Given the description of an element on the screen output the (x, y) to click on. 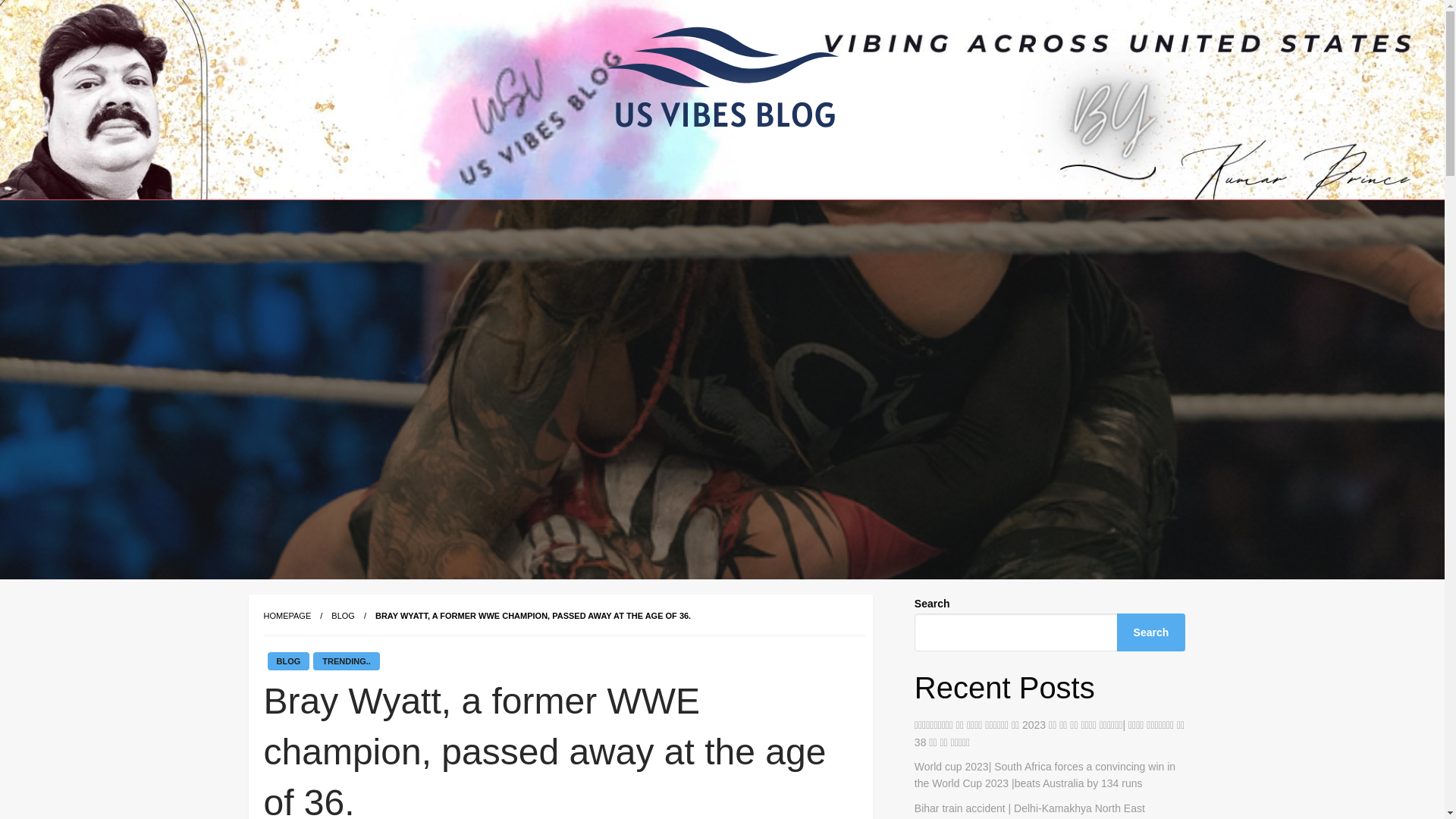
US Vibes blog (627, 211)
HOMEPAGE (287, 614)
BLOG (287, 660)
Blog (343, 614)
BLOG (343, 614)
Homepage (287, 614)
TRENDING.. (346, 660)
